Given the description of an element on the screen output the (x, y) to click on. 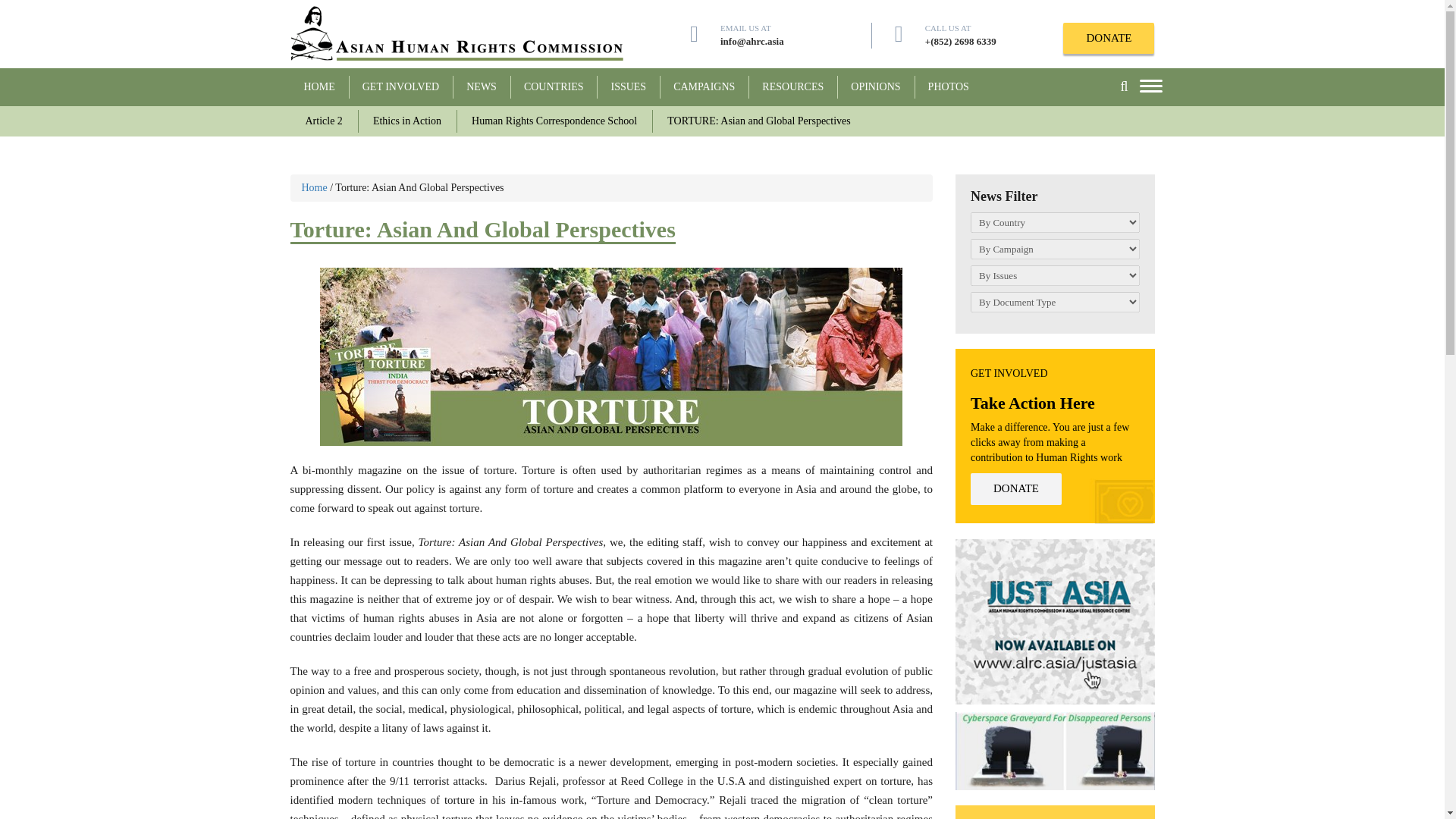
Get Involved (400, 91)
News (481, 91)
NEWS (481, 91)
HOME (318, 91)
COUNTRIES (553, 91)
ISSUES (627, 91)
HOME (318, 91)
DONATE (1108, 38)
GET INVOLVED (400, 91)
